Given the description of an element on the screen output the (x, y) to click on. 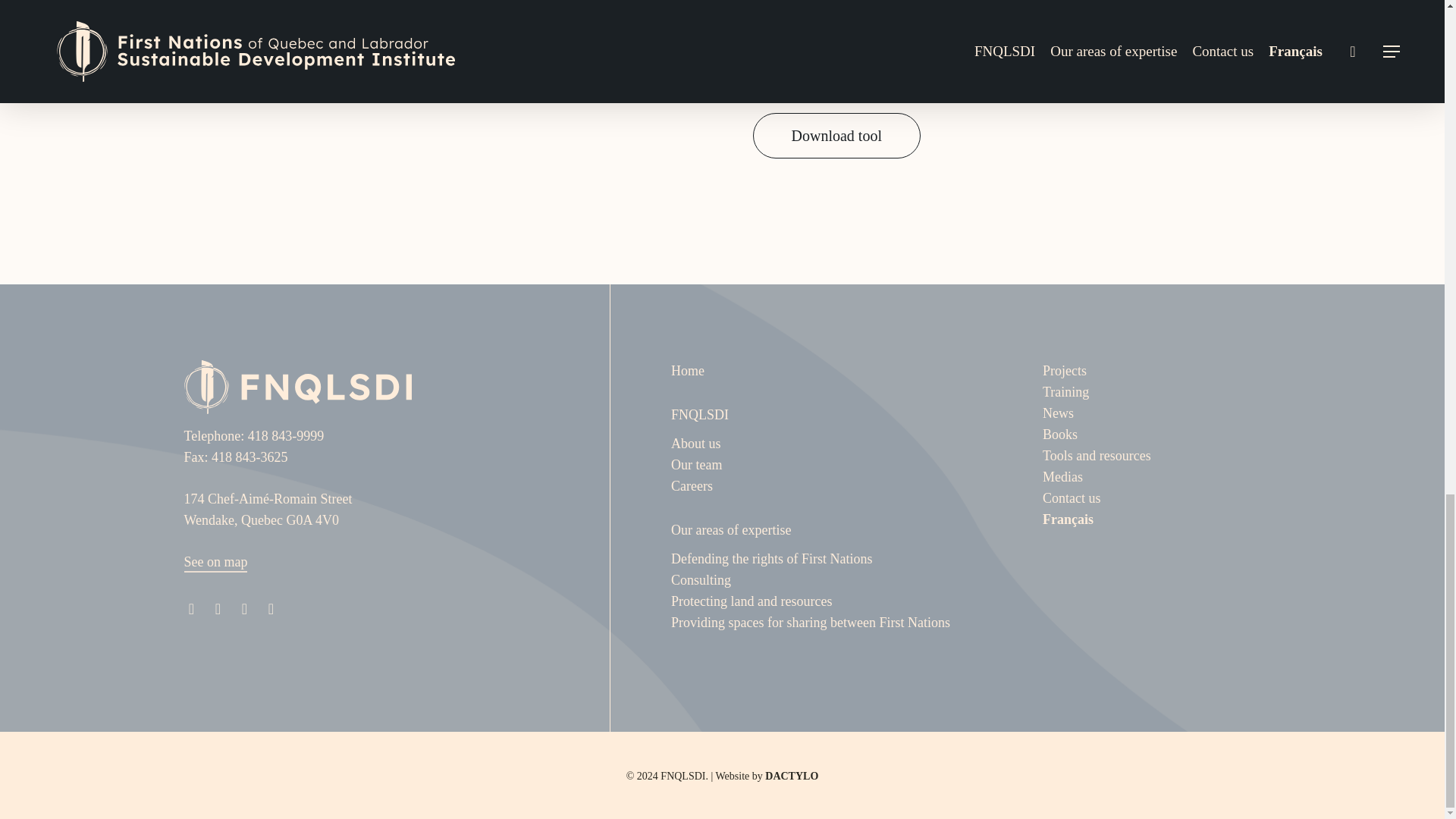
Defending the rights of First Nations (771, 558)
Projects (1064, 370)
Protecting land and resources (751, 601)
Home (687, 370)
Download tool (836, 135)
Careers (692, 485)
FNQLSDI (700, 414)
Training (1065, 391)
418 843-9999 (285, 435)
Our areas of expertise (730, 529)
Providing spaces for sharing between First Nations (810, 622)
See on map (215, 561)
About us (695, 443)
Consulting (700, 580)
Our team (696, 464)
